Given the description of an element on the screen output the (x, y) to click on. 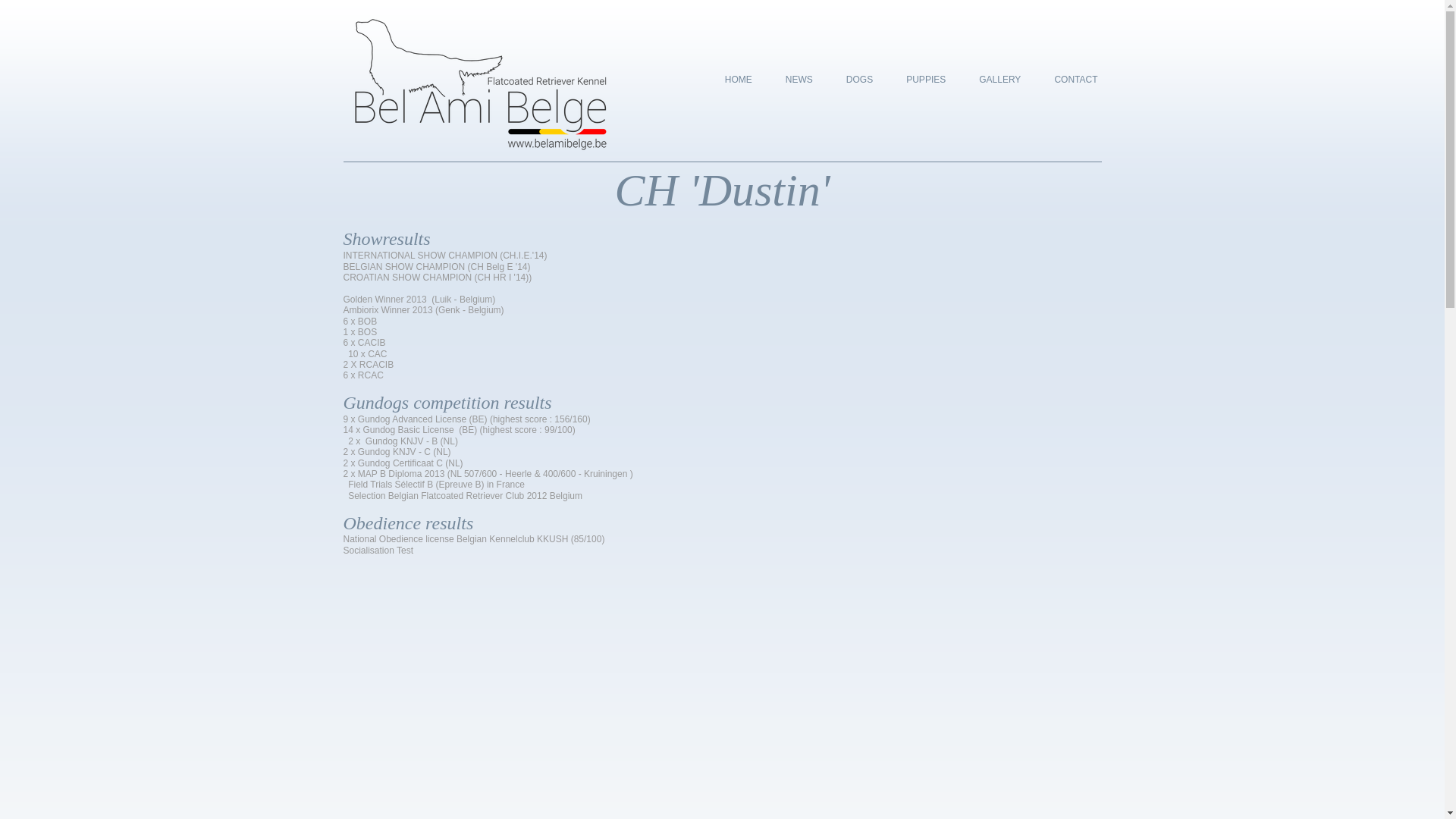
HOME Element type: text (738, 82)
GALLERY Element type: text (999, 82)
NEWS Element type: text (798, 82)
CONTACT Element type: text (1075, 82)
DOGS Element type: text (859, 82)
PUPPIES Element type: text (925, 82)
